Given the description of an element on the screen output the (x, y) to click on. 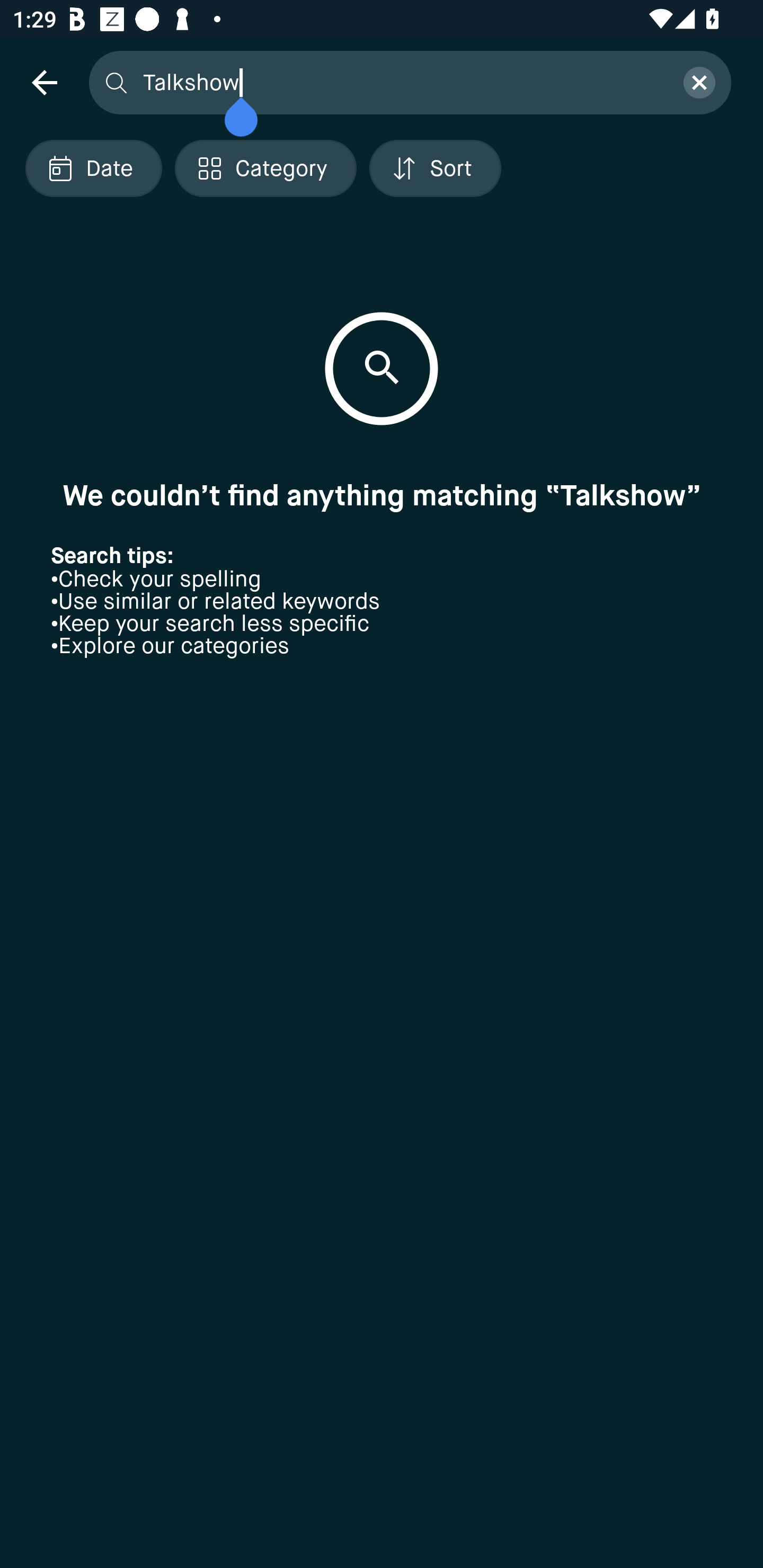
navigation icon (44, 81)
Talkshow (402, 81)
Localized description Date (93, 168)
Localized description Category (265, 168)
Localized description Sort (435, 168)
We couldn’t find anything matching “Talkshow” (381, 495)
